Given the description of an element on the screen output the (x, y) to click on. 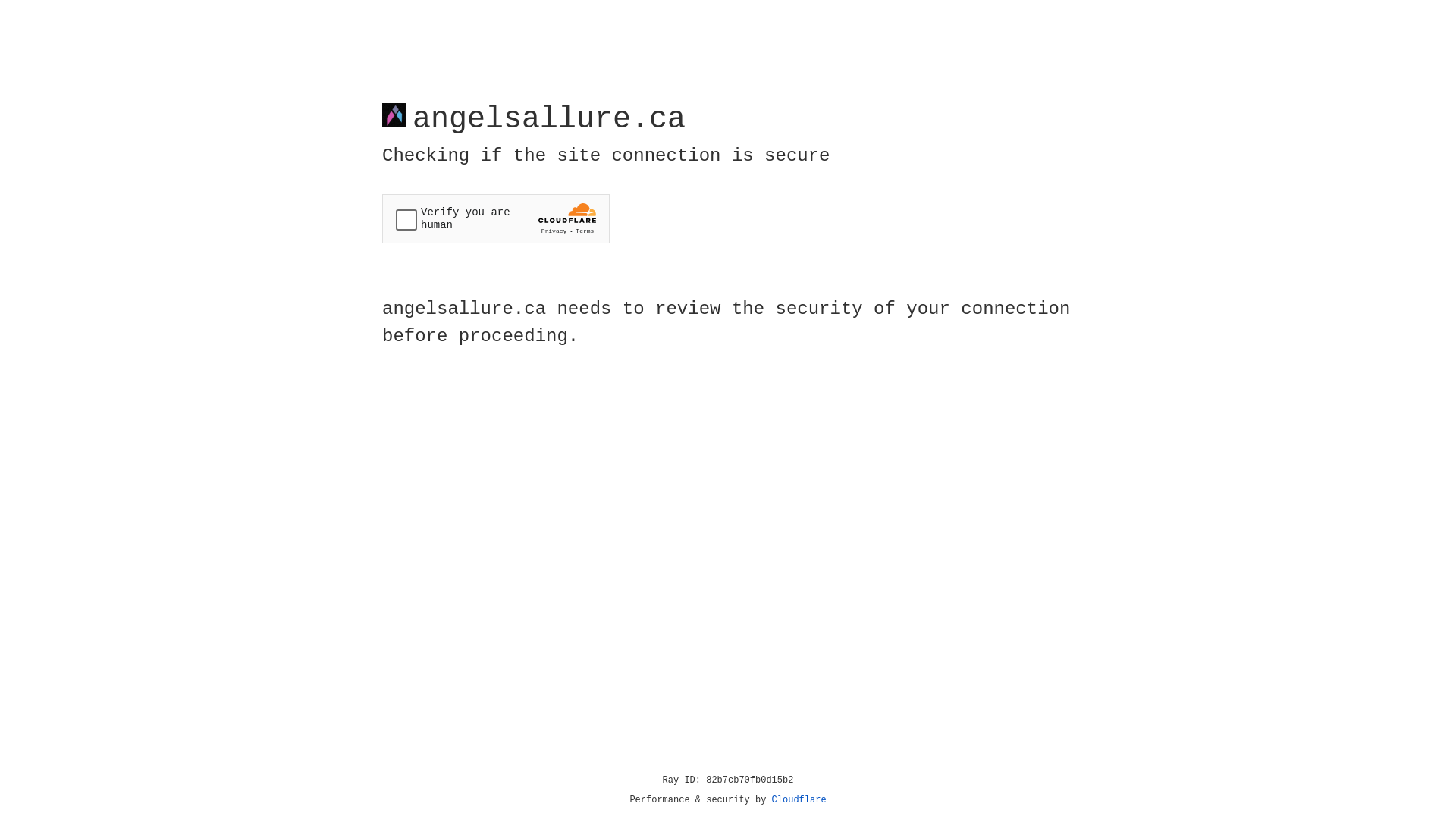
Cloudflare Element type: text (798, 799)
Widget containing a Cloudflare security challenge Element type: hover (495, 218)
